Given the description of an element on the screen output the (x, y) to click on. 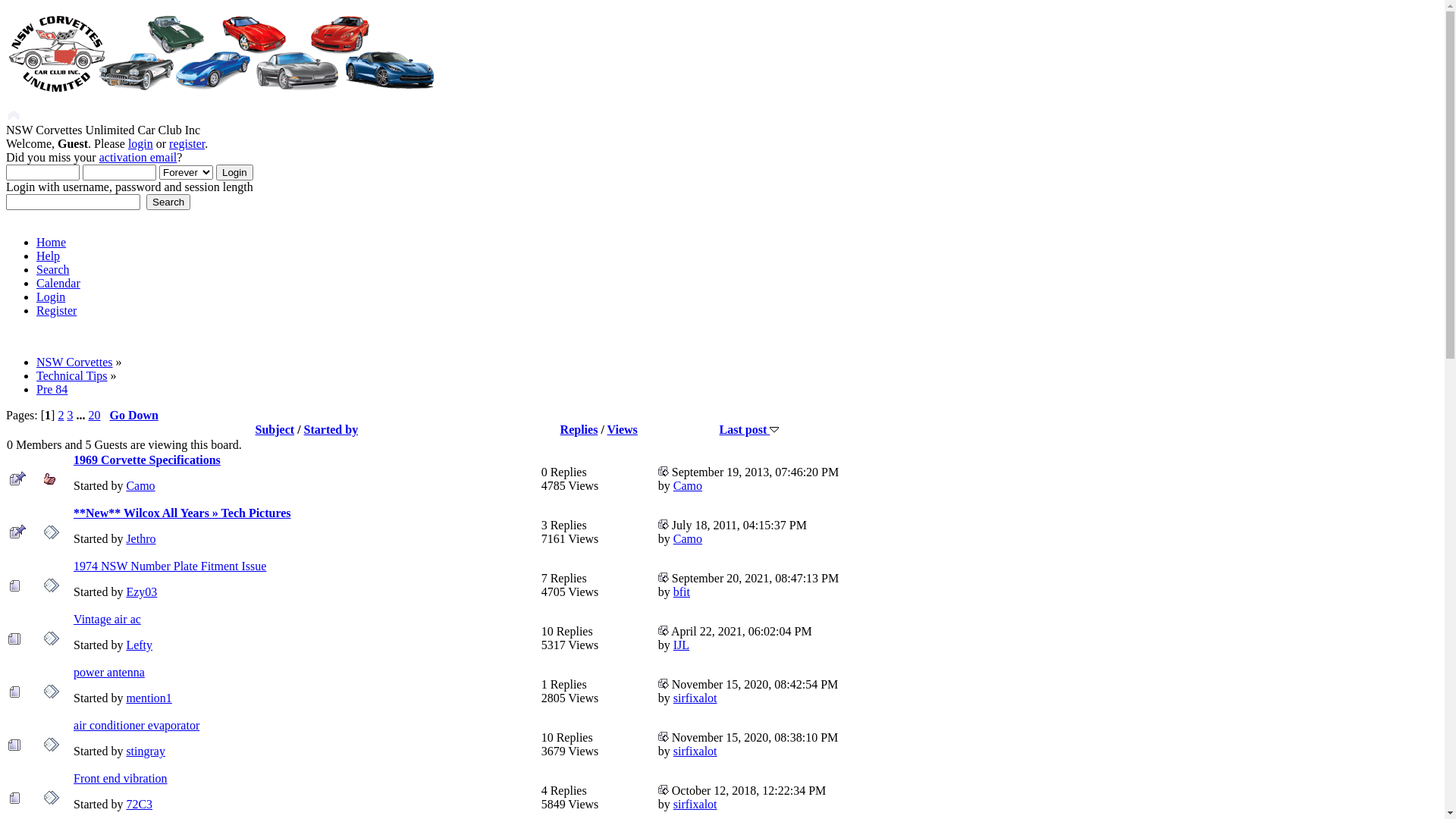
72C3 Element type: text (138, 803)
Go Down Element type: text (133, 414)
Camo Element type: text (139, 485)
Jethro Element type: text (140, 538)
activation email Element type: text (138, 156)
Ezy03 Element type: text (140, 591)
Lefty Element type: text (138, 644)
Home Element type: text (50, 241)
1969 Corvette Specifications Element type: text (146, 459)
sirfixalot Element type: text (695, 750)
Last post Element type: hover (663, 470)
... Element type: text (81, 414)
20 Element type: text (93, 414)
Pre 84 Element type: text (51, 388)
Replies Element type: text (579, 429)
sirfixalot Element type: text (695, 697)
Login Element type: text (50, 296)
mention1 Element type: text (148, 697)
Last post Element type: hover (663, 682)
Front end vibration Element type: text (120, 777)
Last post Element type: hover (663, 736)
bfit Element type: text (681, 591)
Help Element type: text (47, 255)
Last post Element type: hover (663, 789)
Subject Element type: text (274, 429)
NSW Corvettes Element type: text (74, 361)
Search Element type: text (168, 202)
Views Element type: text (622, 429)
3 Element type: text (69, 414)
Last post Element type: hover (663, 576)
Last post Element type: hover (663, 629)
Camo Element type: text (687, 485)
2 Element type: text (60, 414)
Started by Element type: text (331, 429)
sirfixalot Element type: text (695, 803)
Register Element type: text (56, 310)
Shrink or expand the header. Element type: hover (13, 115)
1974 NSW Number Plate Fitment Issue Element type: text (169, 565)
Vintage air ac Element type: text (107, 618)
register Element type: text (186, 143)
Login Element type: text (234, 172)
Calendar Element type: text (58, 282)
Camo Element type: text (687, 538)
stingray Element type: text (145, 750)
Last post Element type: hover (663, 523)
power antenna Element type: text (108, 671)
login Element type: text (140, 143)
Search Element type: text (52, 269)
air conditioner evaporator Element type: text (136, 724)
IJL Element type: text (681, 644)
Last post Element type: text (749, 429)
Technical Tips Element type: text (71, 375)
